Given the description of an element on the screen output the (x, y) to click on. 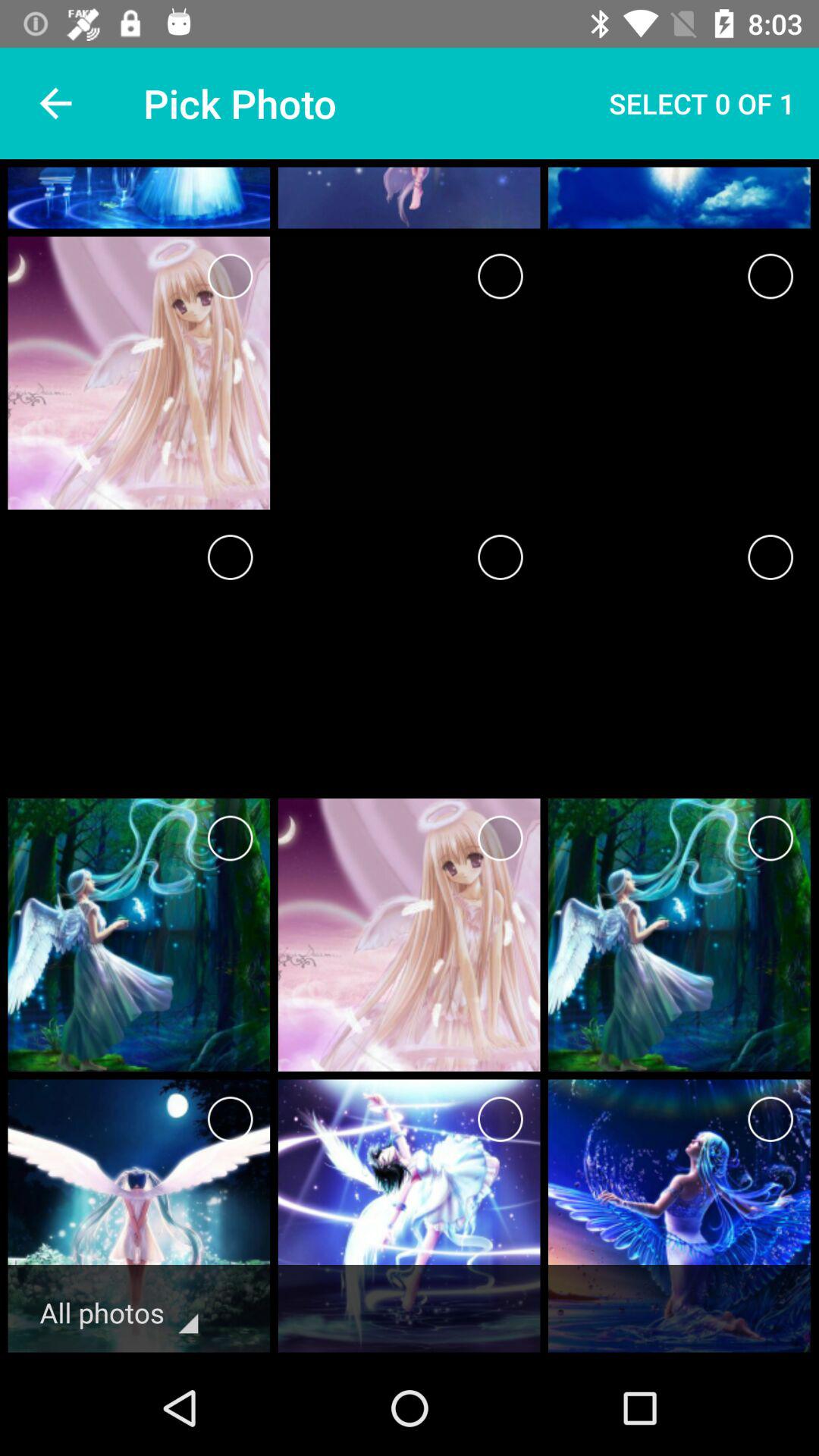
editing photos (230, 1119)
